Given the description of an element on the screen output the (x, y) to click on. 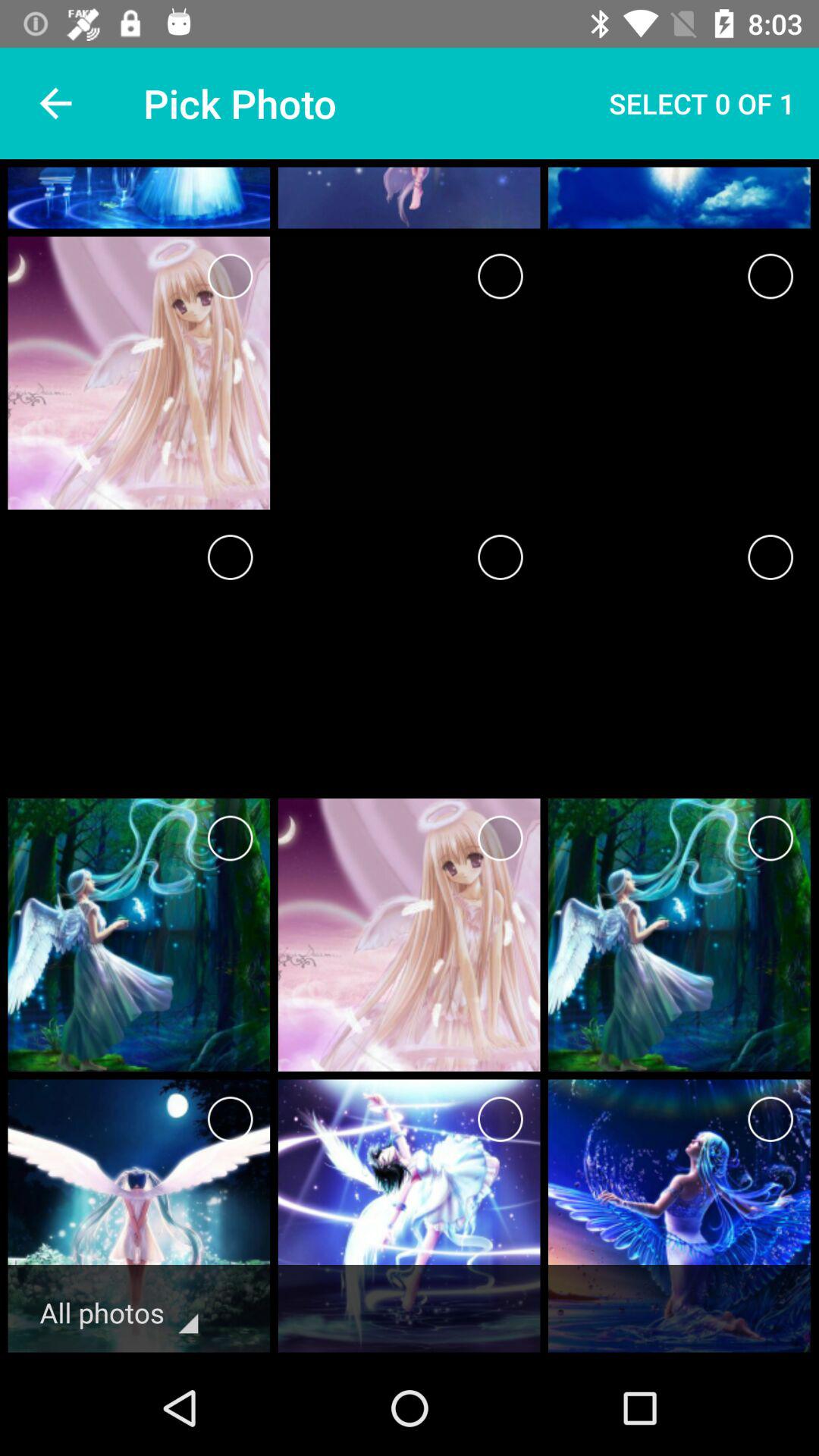
editing photos (230, 1119)
